Given the description of an element on the screen output the (x, y) to click on. 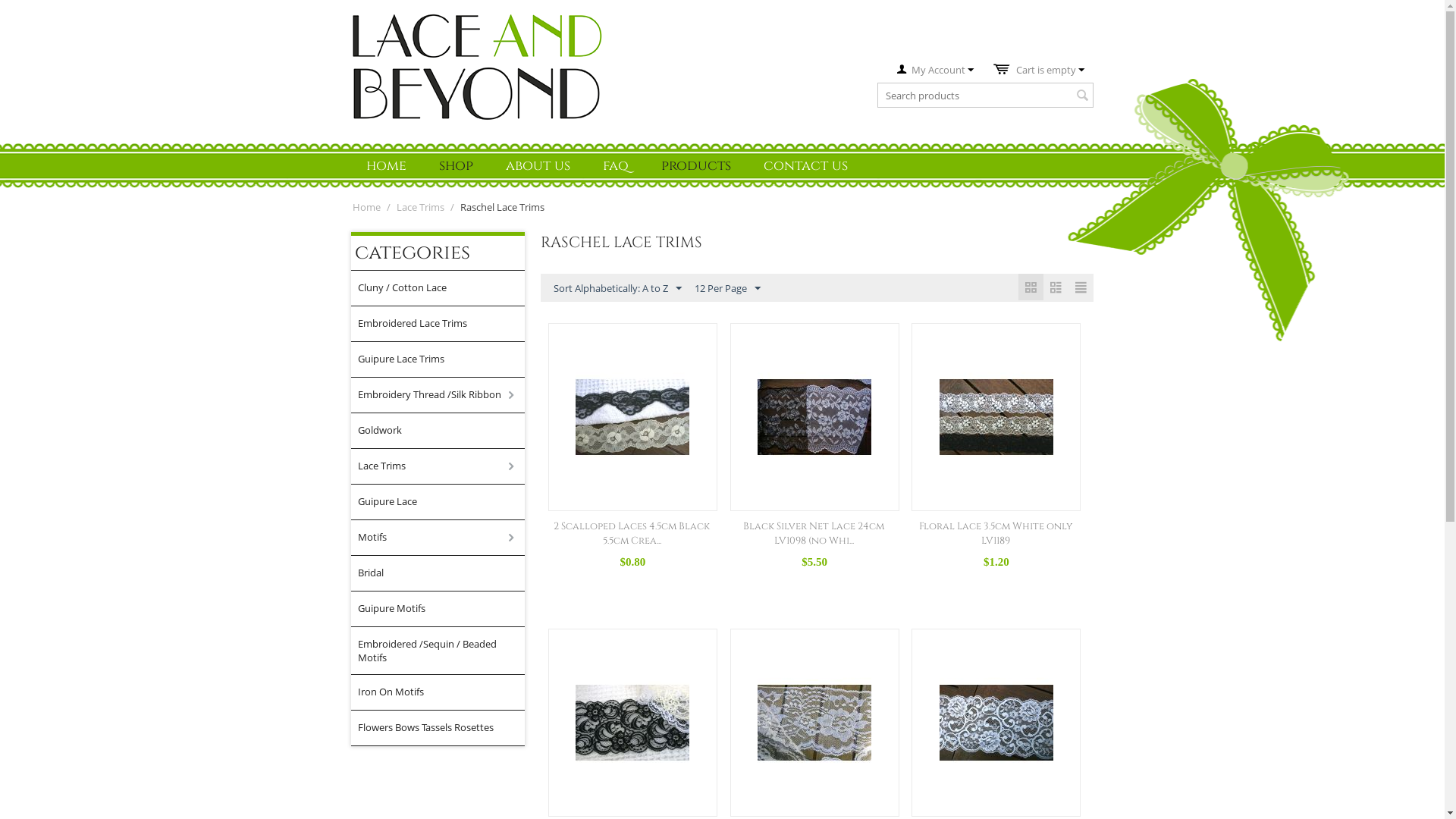
12 Per Page Element type: text (727, 287)
contact us Element type: text (805, 165)
Goldwork Element type: text (440, 430)
products Element type: text (696, 165)
  My Account Element type: text (935, 69)
Lace Trims Element type: text (420, 206)
about us Element type: text (537, 165)
Cart is empty Element type: text (1038, 69)
Embroidered Lace Trims Element type: text (440, 323)
home Element type: text (386, 165)
Bridal Element type: text (440, 572)
shop Element type: text (455, 165)
Search Element type: hover (1081, 96)
Embroidered /Sequin / Beaded Motifs Element type: text (440, 650)
Floral Lace 3.5cm White only LV1189 Element type: text (995, 533)
Guipure Lace Element type: text (440, 501)
Guipure Motifs Element type: text (440, 608)
Black Silver Net Lace 24cm LV1098 (no Whi... Element type: text (813, 533)
Motifs Element type: text (440, 537)
faq Element type: text (615, 165)
Sort Alphabetically: A to Z Element type: text (617, 287)
Embroidery Thread /Silk Ribbon Element type: text (440, 394)
Home Element type: text (366, 206)
Guipure Lace Trims Element type: text (440, 359)
Lace Trims Element type: text (440, 465)
2 Scalloped Laces 4.5cm Black 5.5cm Crea... Element type: text (631, 533)
Cluny / Cotton Lace Element type: text (440, 287)
Search products Element type: hover (985, 94)
Iron On Motifs Element type: text (440, 691)
Flowers Bows Tassels Rosettes Element type: text (440, 727)
